Given the description of an element on the screen output the (x, y) to click on. 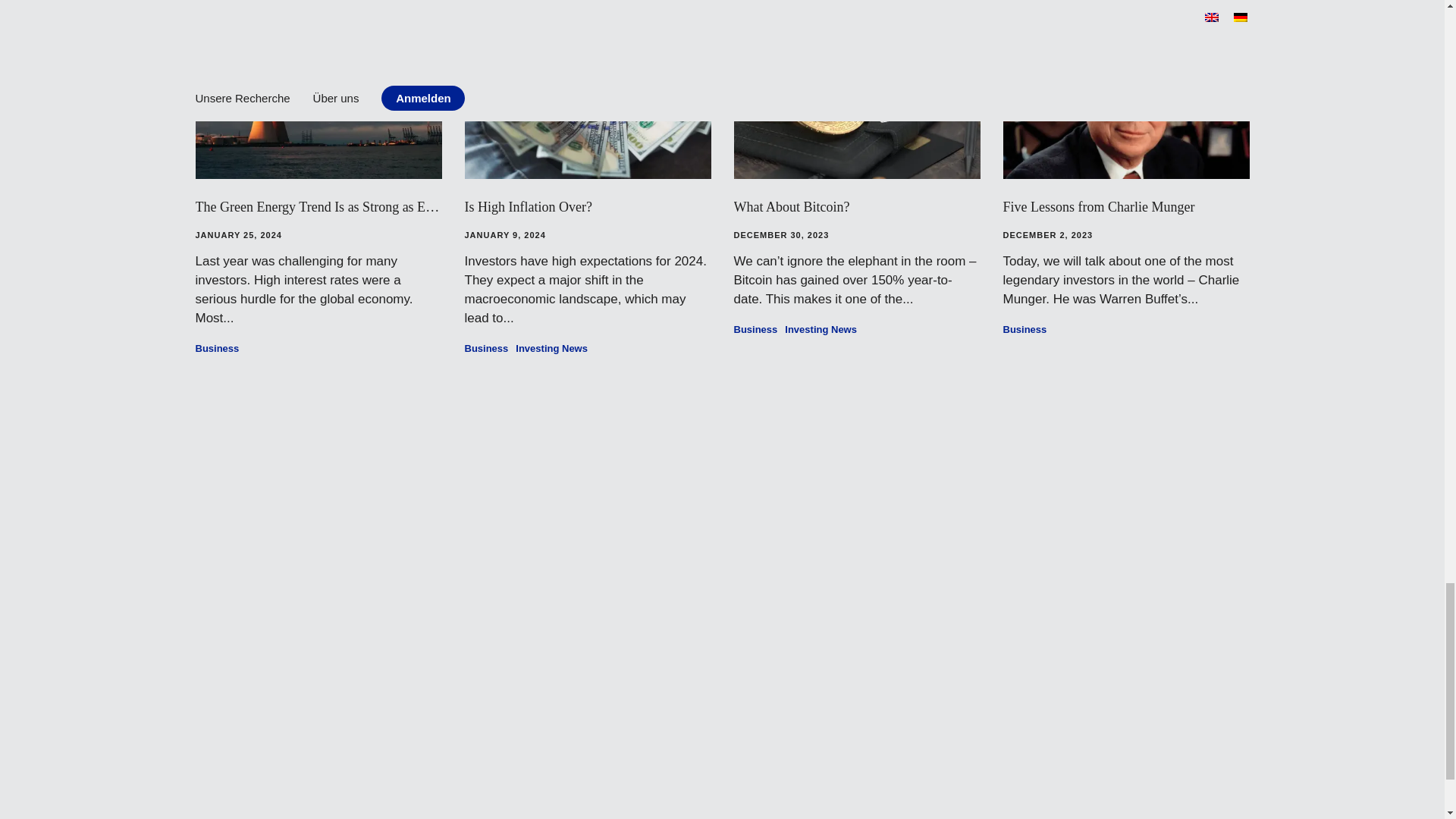
Business (1024, 328)
Business (486, 348)
Investing News (551, 348)
Business (217, 348)
Business (755, 328)
Investing News (820, 328)
